Given the description of an element on the screen output the (x, y) to click on. 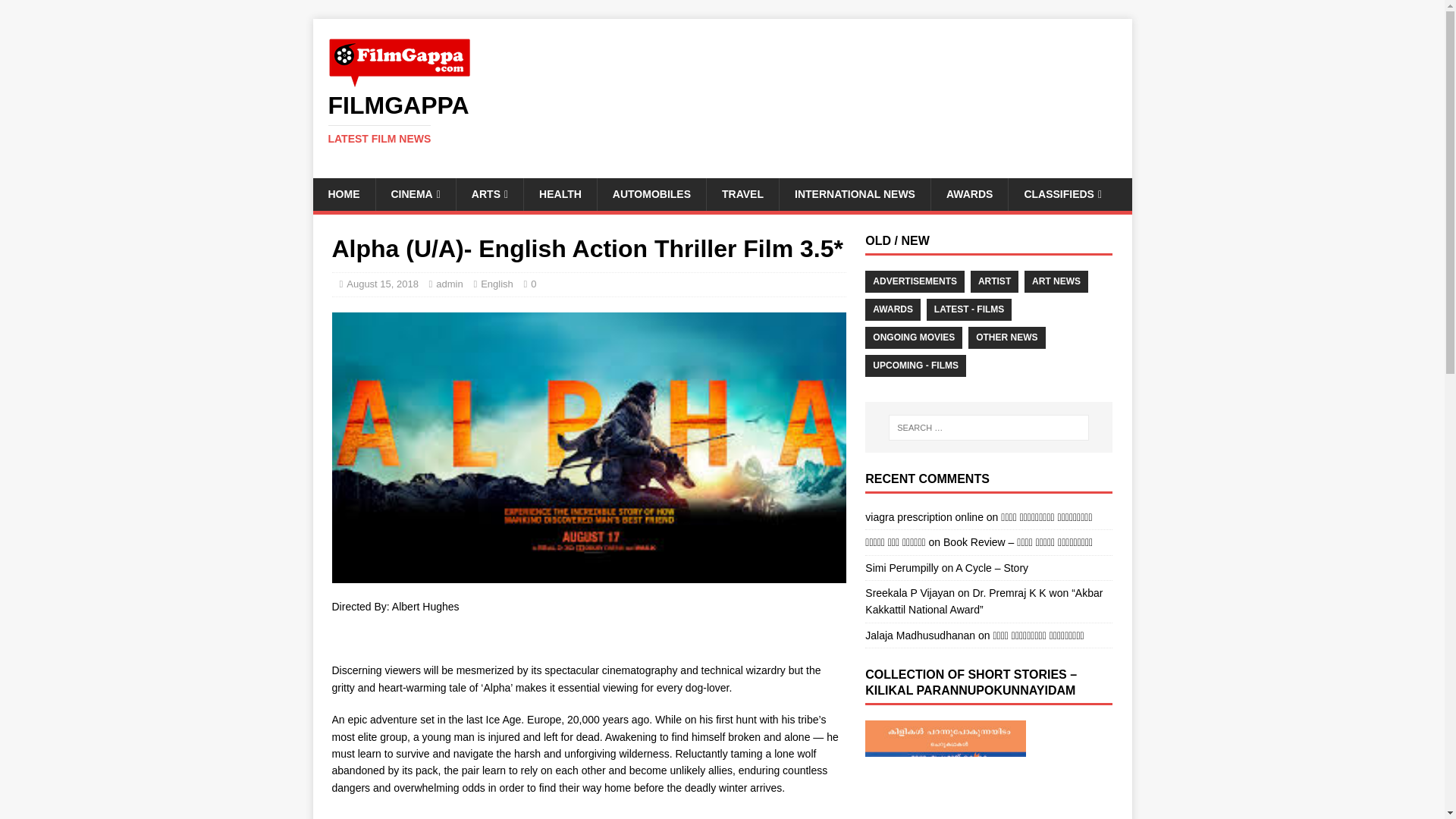
CINEMA (414, 193)
HOME (343, 193)
FilmGappa (721, 118)
alpha (721, 118)
